Given the description of an element on the screen output the (x, y) to click on. 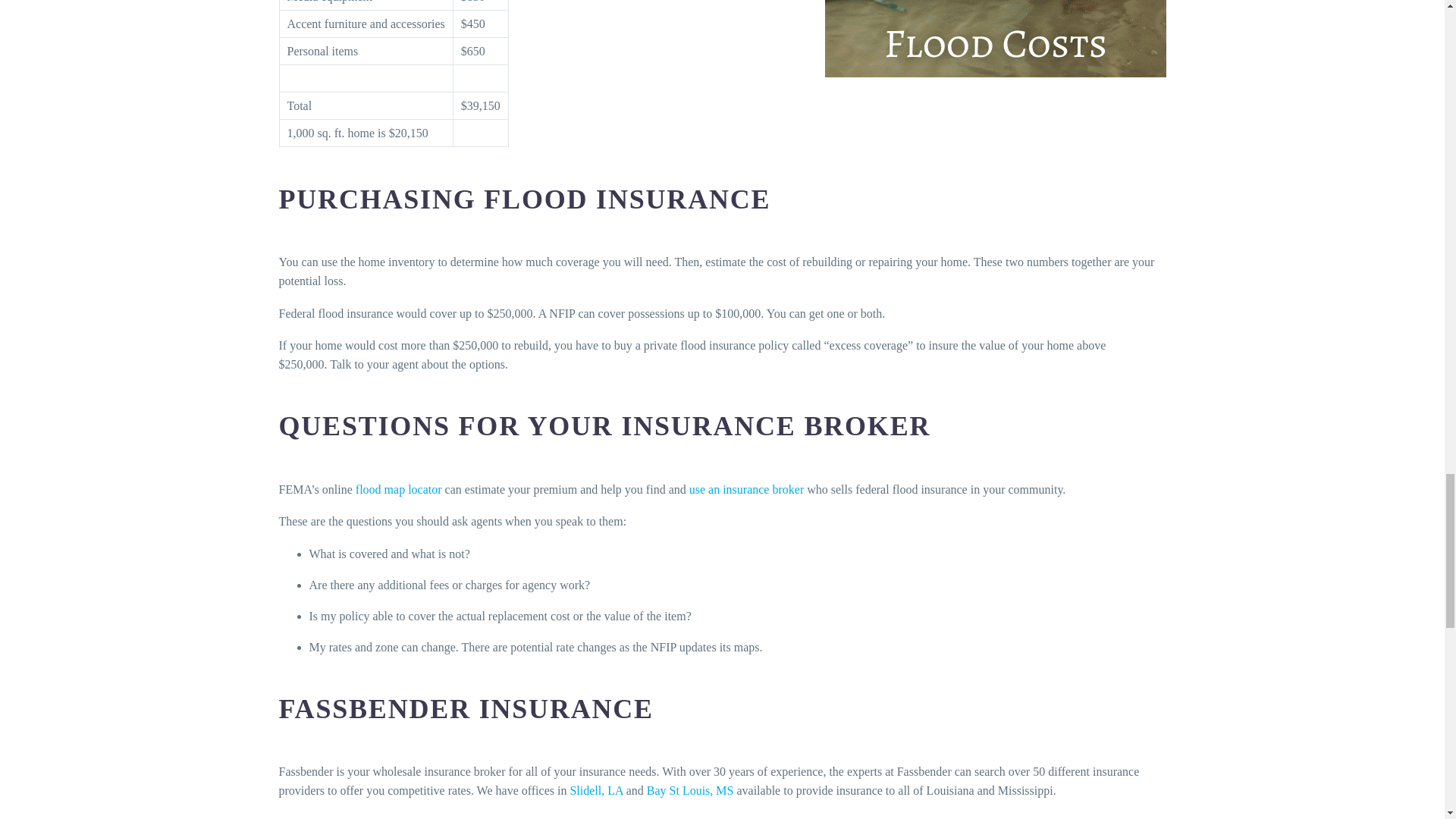
Bay St Louis, MS (689, 789)
use an insurance broker (746, 489)
flood map locator (398, 489)
Slidell, LA (596, 789)
